Given the description of an element on the screen output the (x, y) to click on. 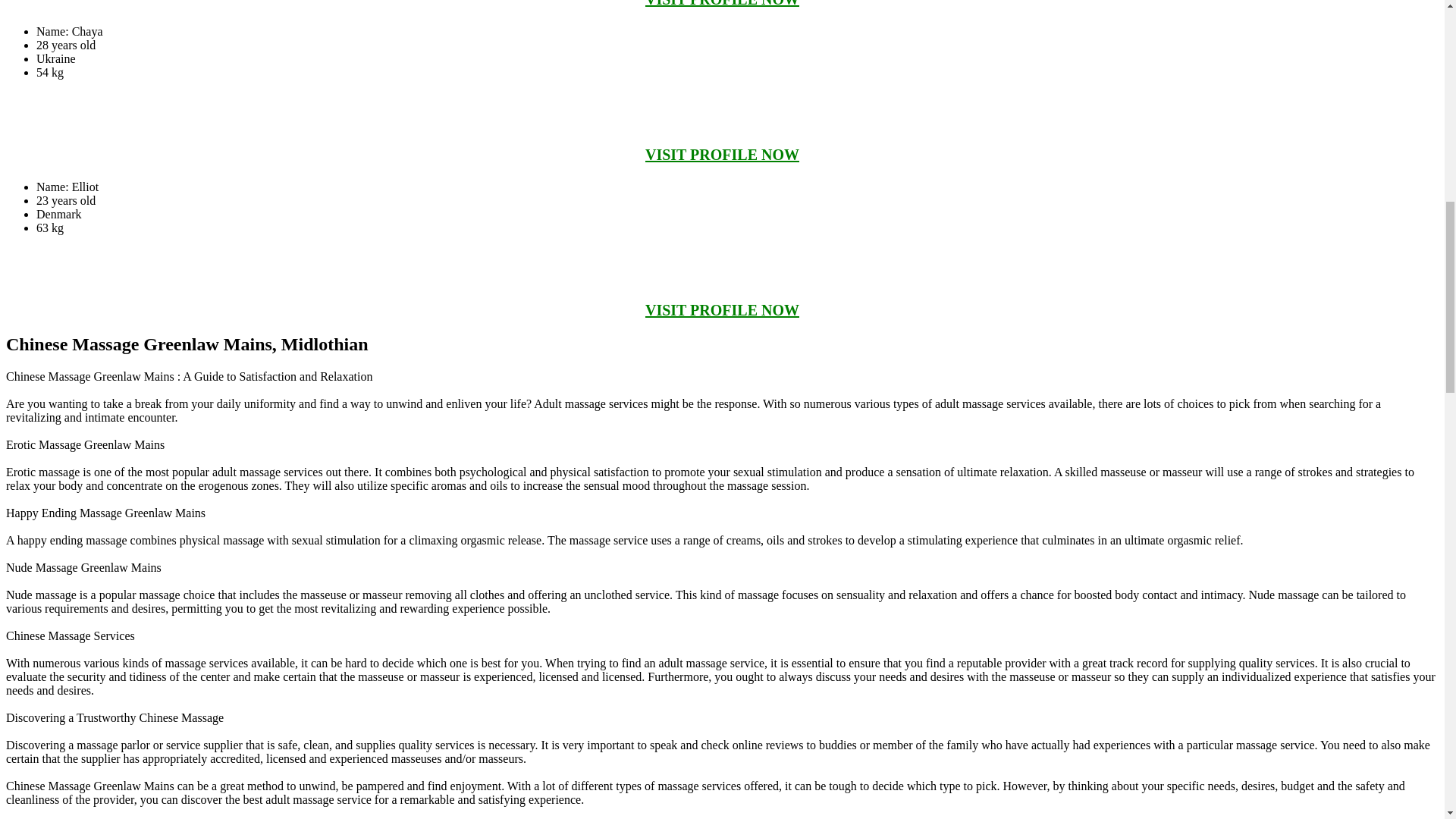
VISIT PROFILE NOW (722, 154)
VISIT PROFILE NOW (722, 3)
VISIT PROFILE NOW (722, 310)
